Given the description of an element on the screen output the (x, y) to click on. 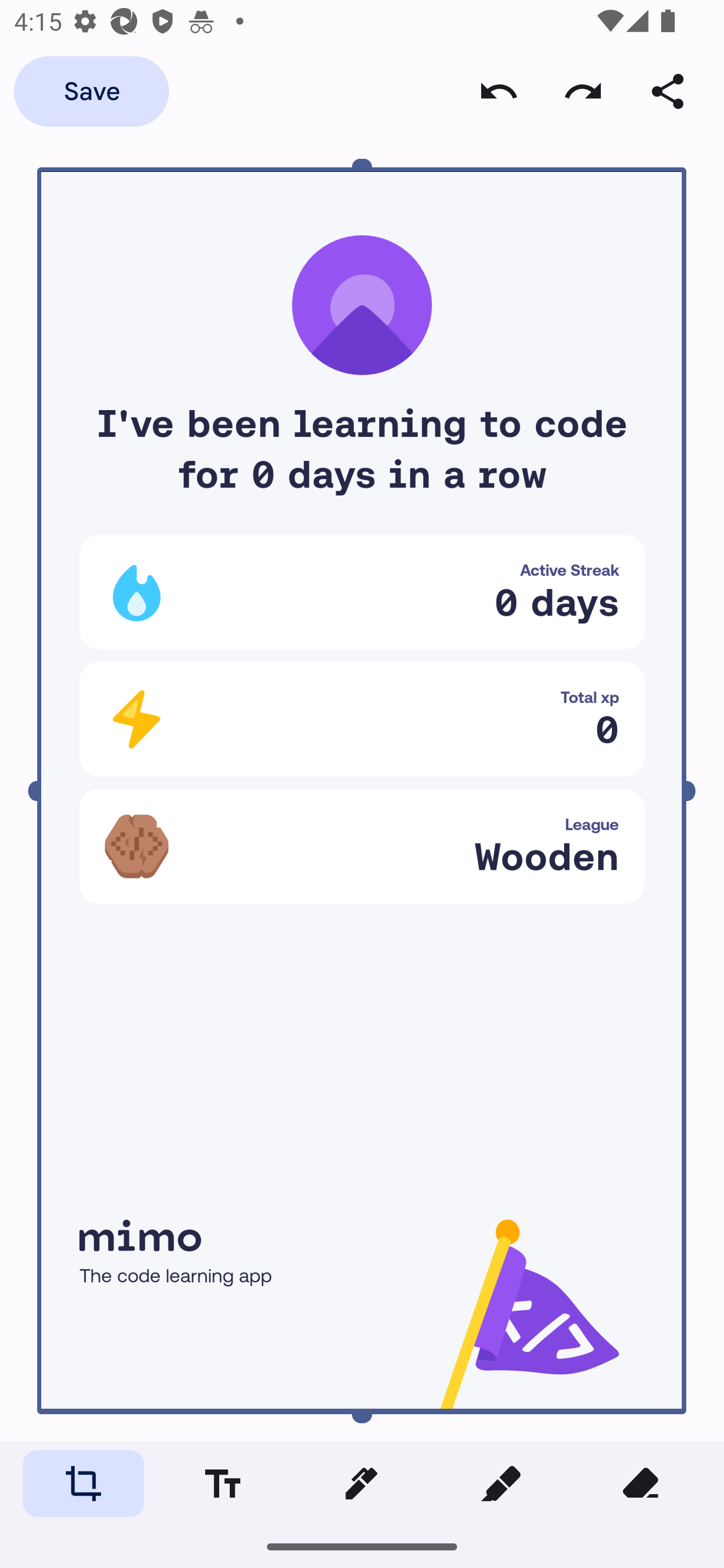
Save (90, 90)
Undo (498, 90)
Redo (582, 90)
Share (667, 90)
Text (221, 1482)
Pen (361, 1482)
Highlighter (500, 1482)
Eraser (640, 1482)
